Given the description of an element on the screen output the (x, y) to click on. 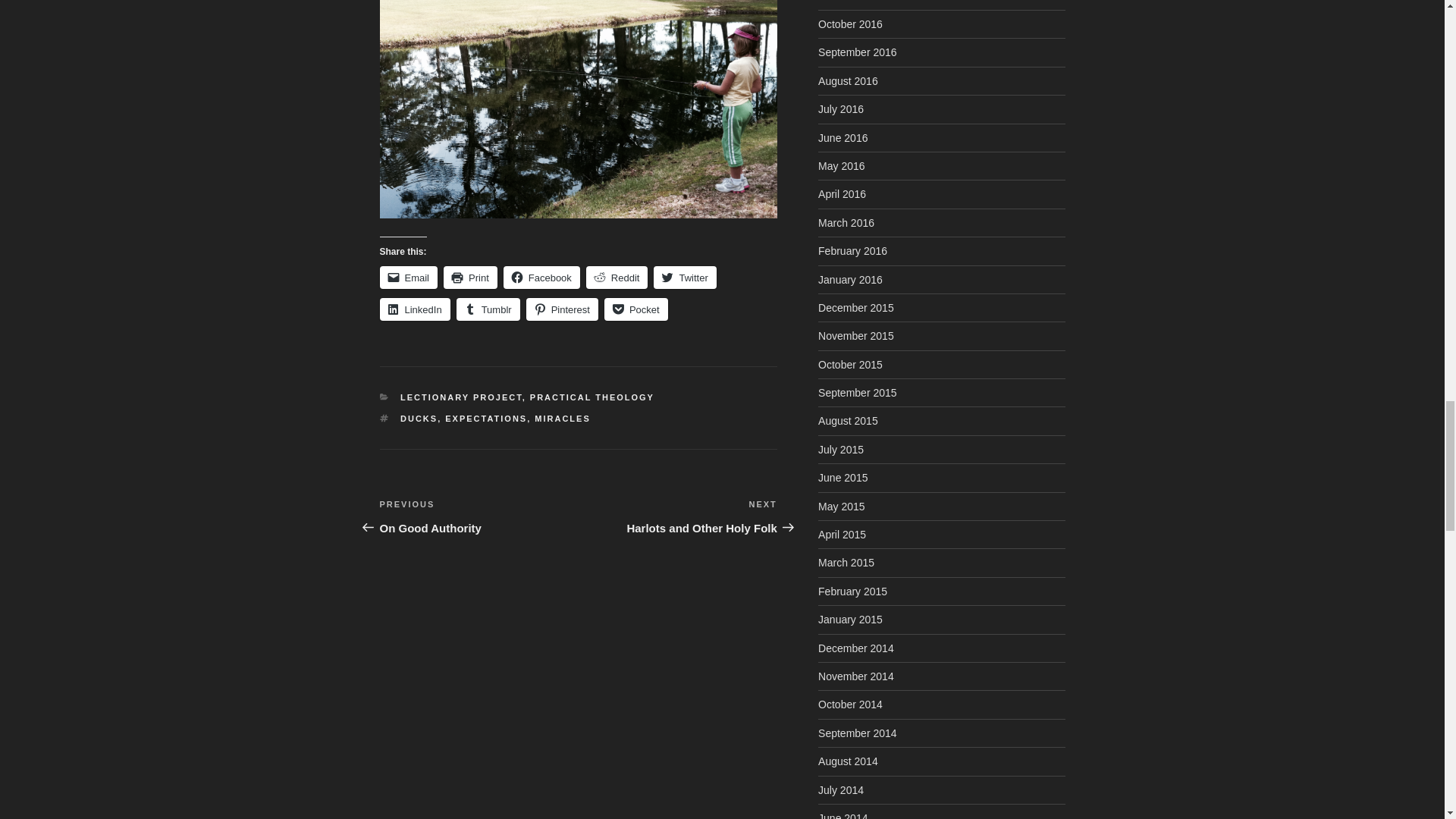
Twitter (684, 277)
Email (408, 277)
Facebook (541, 277)
Pinterest (561, 309)
LinkedIn (413, 309)
Click to share on Reddit (616, 277)
EXPECTATIONS (486, 418)
Click to share on Facebook (541, 277)
Reddit (616, 277)
MIRACLES (561, 418)
